Given the description of an element on the screen output the (x, y) to click on. 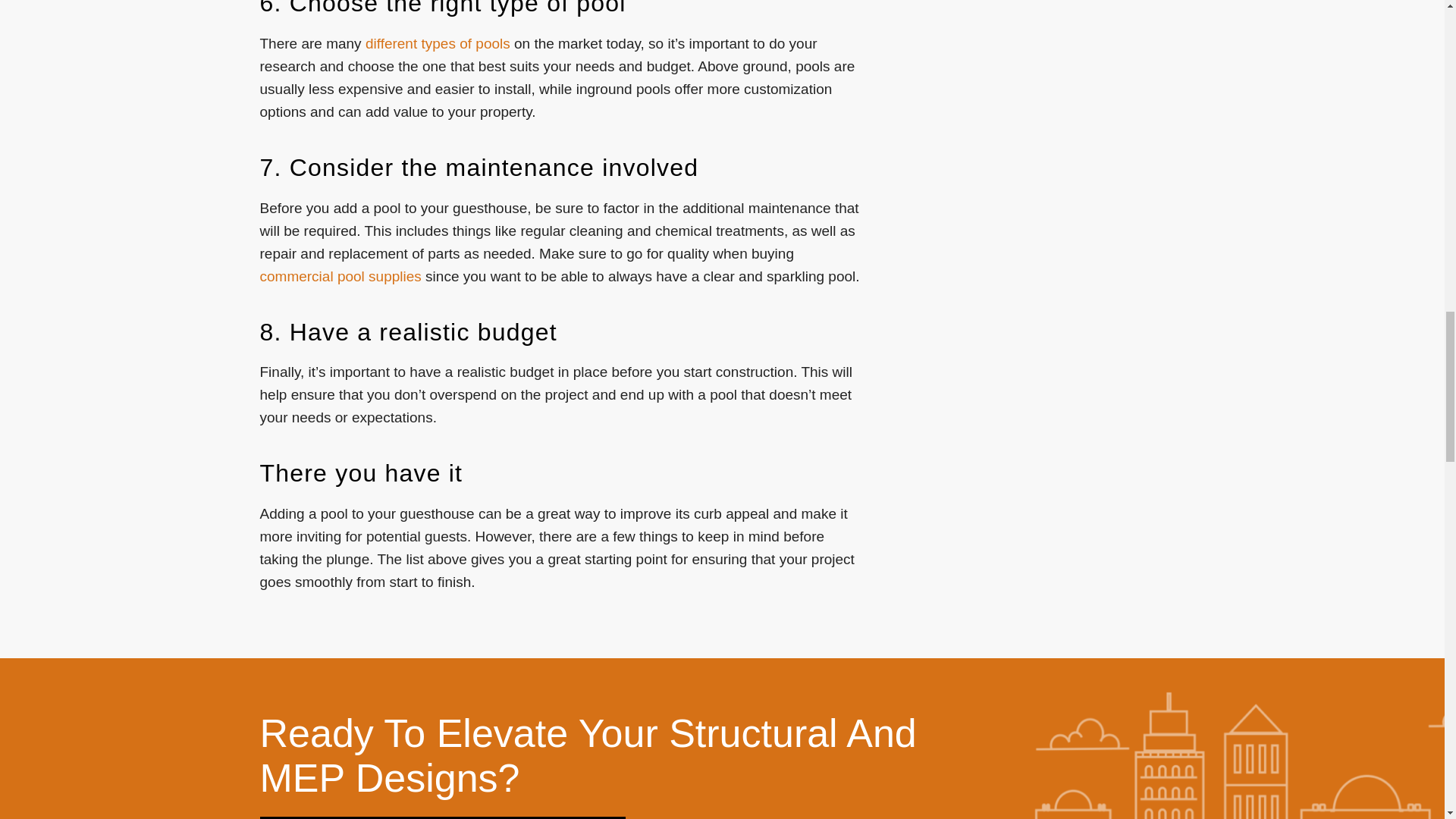
commercial pool supplies (339, 276)
different types of pools (438, 43)
